Given the description of an element on the screen output the (x, y) to click on. 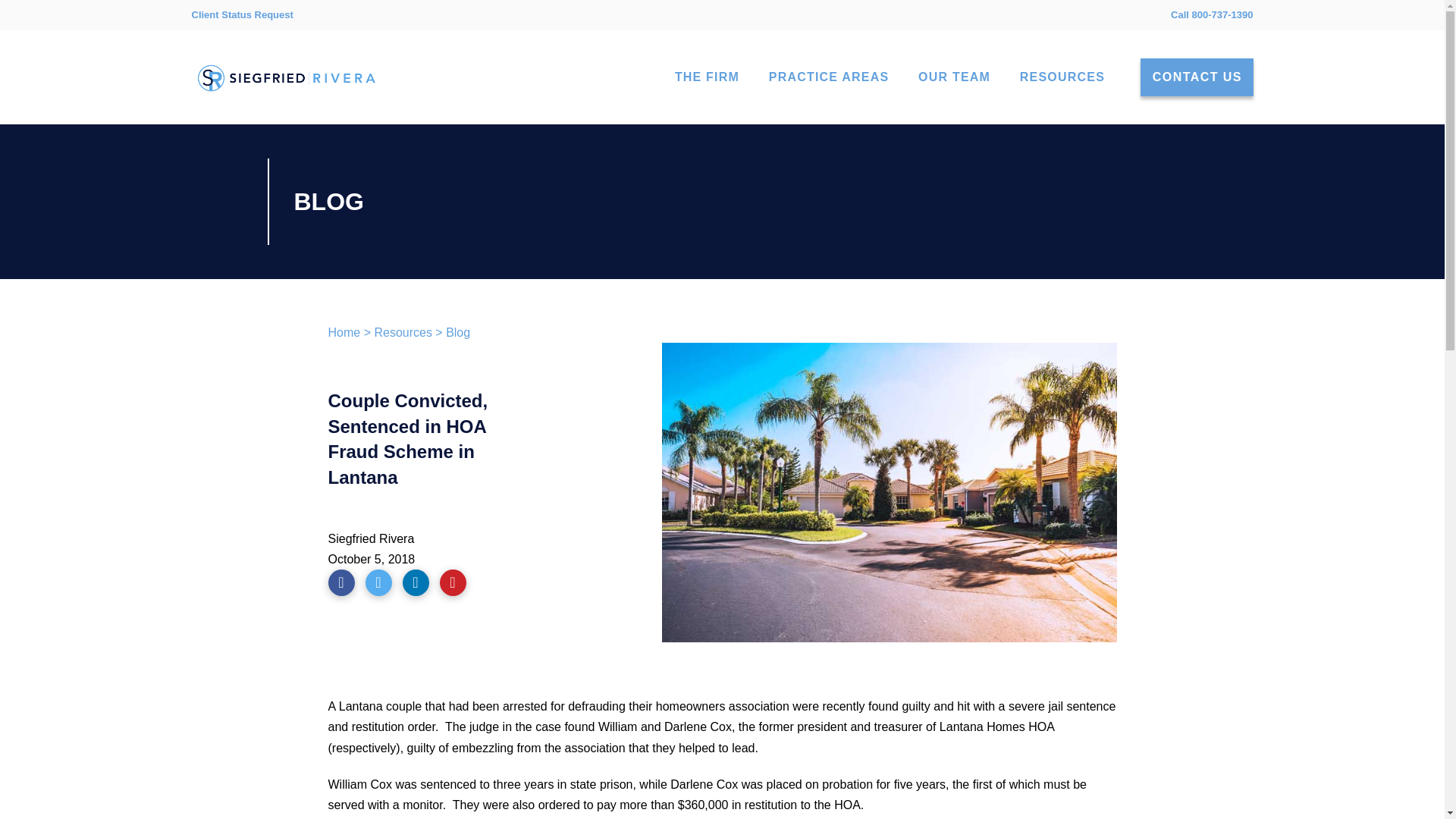
RESOURCES (1061, 76)
Resources (402, 332)
Client Status Request (241, 15)
Call 800-737-1390 (1211, 14)
THE FIRM (706, 76)
Blog (457, 332)
Home (343, 332)
PRACTICE AREAS (828, 76)
CONTACT US (1196, 77)
OUR TEAM (953, 76)
